Given the description of an element on the screen output the (x, y) to click on. 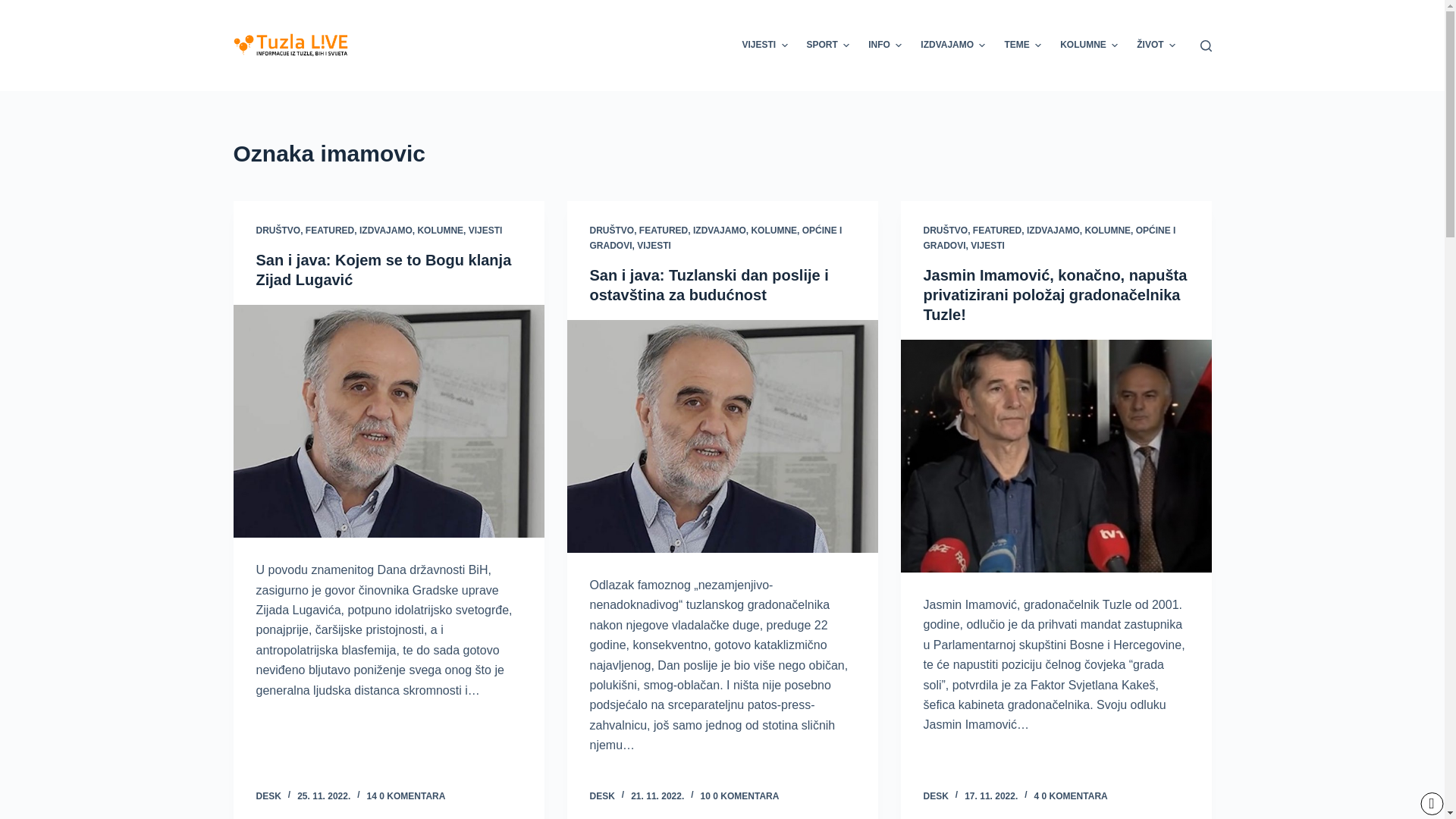
IZDVAJAMO Element type: text (385, 230)
VIJESTI Element type: text (764, 45)
KOLUMNE Element type: text (1089, 45)
VIJESTI Element type: text (485, 230)
Skip to content Element type: text (15, 7)
VIJESTI Element type: text (987, 245)
DESK Element type: text (935, 795)
IZDVAJAMO Element type: text (1052, 230)
TEME Element type: text (1022, 45)
DESK Element type: text (602, 795)
FEATURED Element type: text (996, 230)
FEATURED Element type: text (663, 230)
14 0 KOMENTARA Element type: text (406, 795)
DESK Element type: text (268, 795)
IZDVAJAMO Element type: text (719, 230)
4 0 KOMENTARA Element type: text (1070, 795)
KOLUMNE Element type: text (440, 230)
10 0 KOMENTARA Element type: text (739, 795)
KOLUMNE Element type: text (773, 230)
KOLUMNE Element type: text (1107, 230)
IZDVAJAMO Element type: text (952, 45)
FEATURED Element type: text (329, 230)
SPORT Element type: text (828, 45)
INFO Element type: text (885, 45)
VIJESTI Element type: text (654, 245)
